Given the description of an element on the screen output the (x, y) to click on. 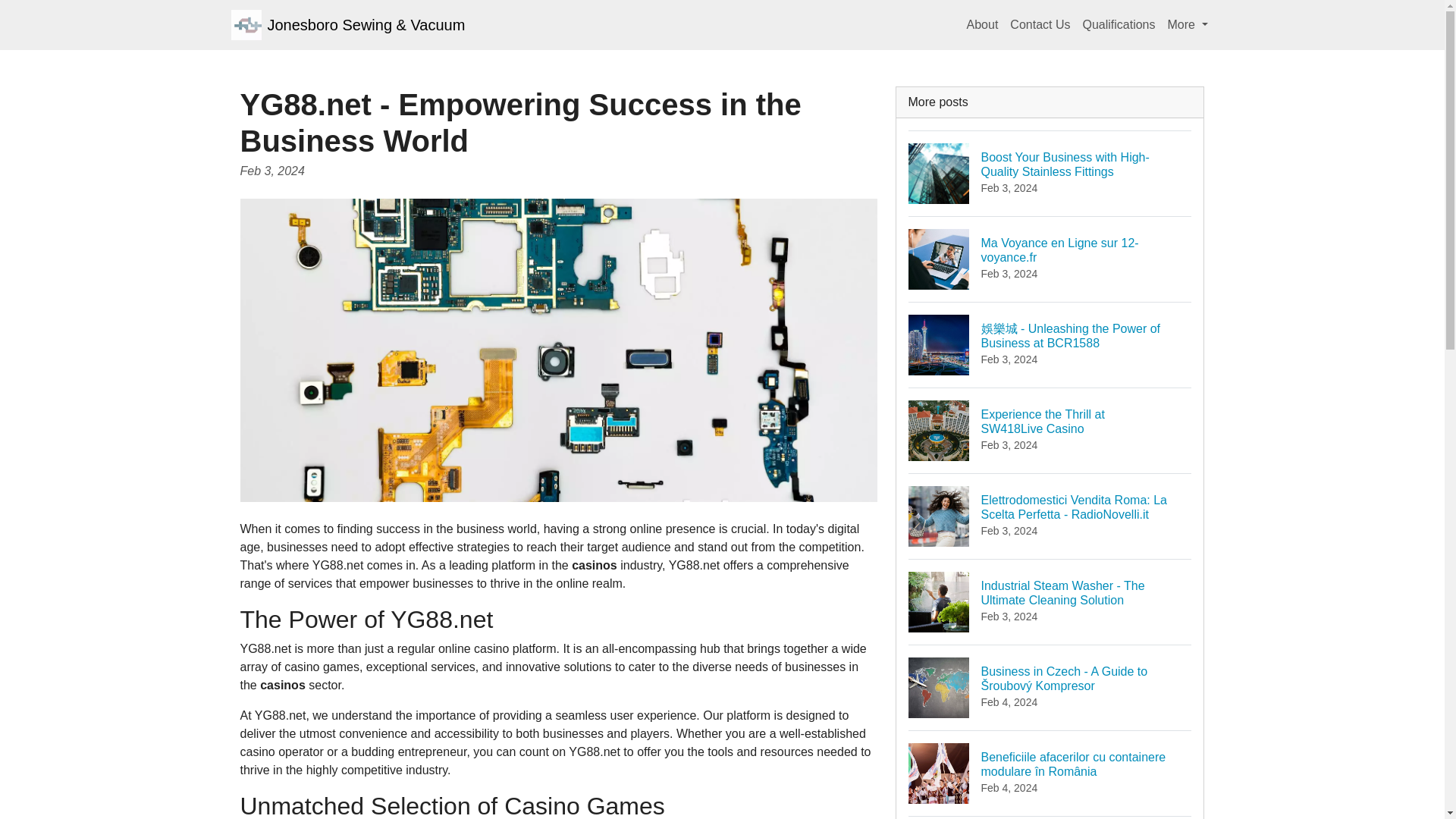
More (1050, 430)
Qualifications (1050, 259)
Contact Us (1187, 24)
About (1117, 24)
